Given the description of an element on the screen output the (x, y) to click on. 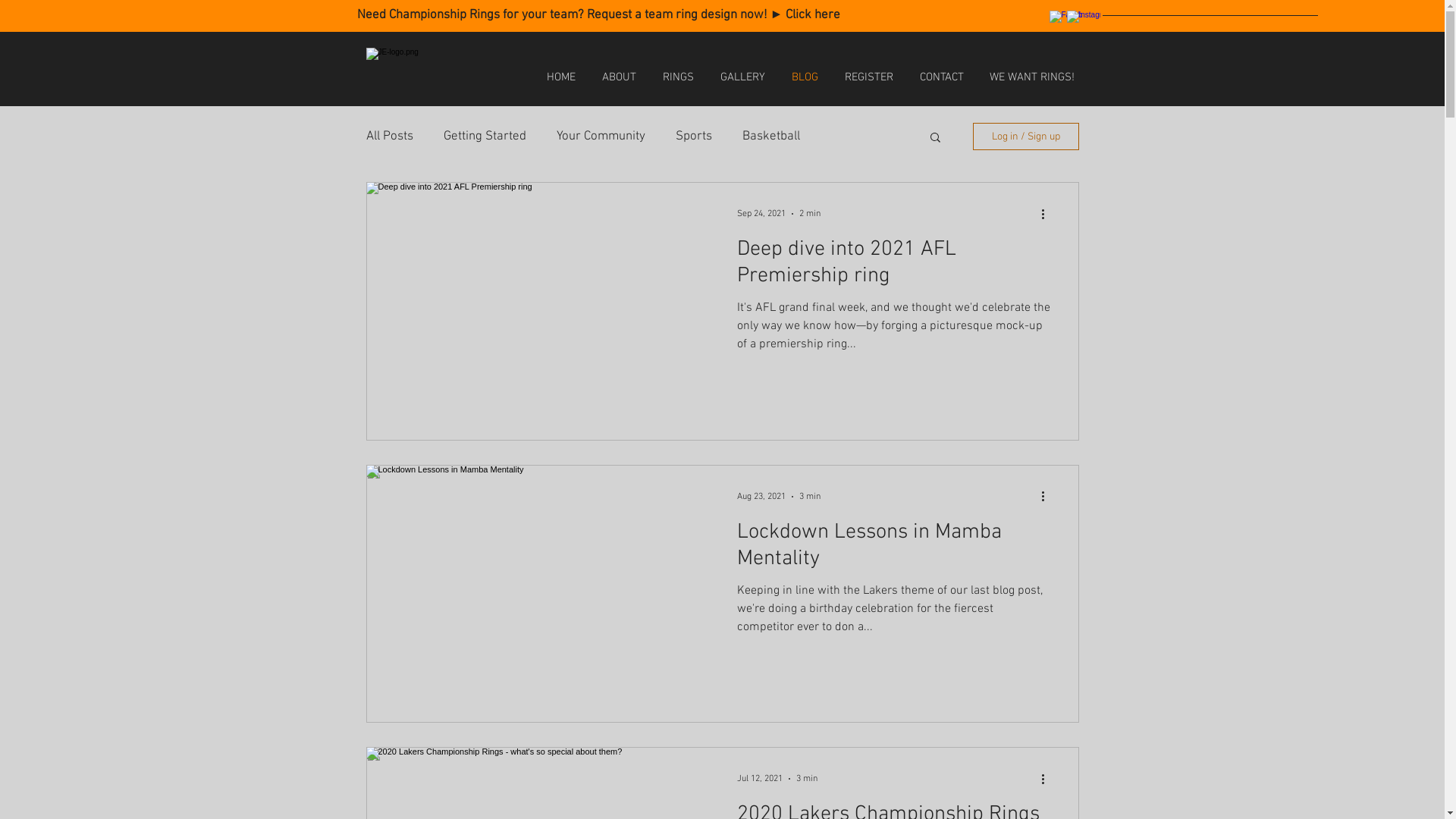
WE WANT RINGS! Element type: text (1031, 77)
HOME Element type: text (561, 77)
Deep dive into 2021 AFL Premiership ring Element type: text (894, 266)
Log in / Sign up Element type: text (1025, 136)
Getting Started Element type: text (483, 136)
REGISTER Element type: text (868, 77)
GALLERY Element type: text (742, 77)
Sports Element type: text (692, 136)
ABOUT Element type: text (618, 77)
BLOG Element type: text (804, 77)
Basketball Element type: text (770, 136)
All Posts Element type: text (388, 136)
RINGS Element type: text (677, 77)
CONTACT Element type: text (941, 77)
Lockdown Lessons in Mamba Mentality Element type: text (894, 549)
Your Community Element type: text (600, 136)
